Given the description of an element on the screen output the (x, y) to click on. 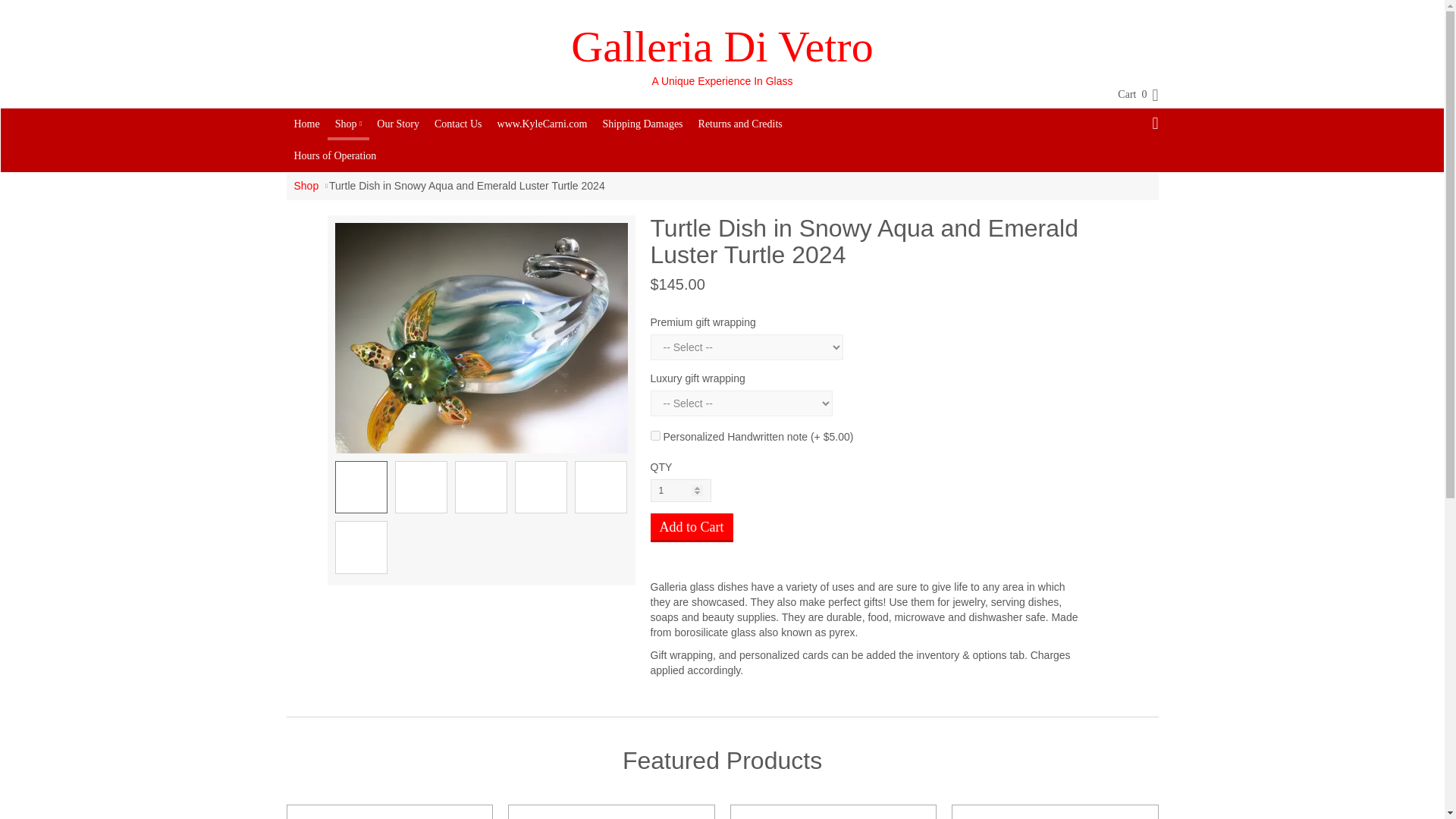
Hours of Operation (335, 155)
Cart  0   (1129, 94)
Add to Cart (691, 527)
Returns and Credits (740, 124)
Shipping Damages (642, 124)
Galleria Di Vetro (721, 46)
Shop (348, 122)
www.KyleCarni.com (542, 124)
Home (306, 124)
1 (680, 490)
